Given the description of an element on the screen output the (x, y) to click on. 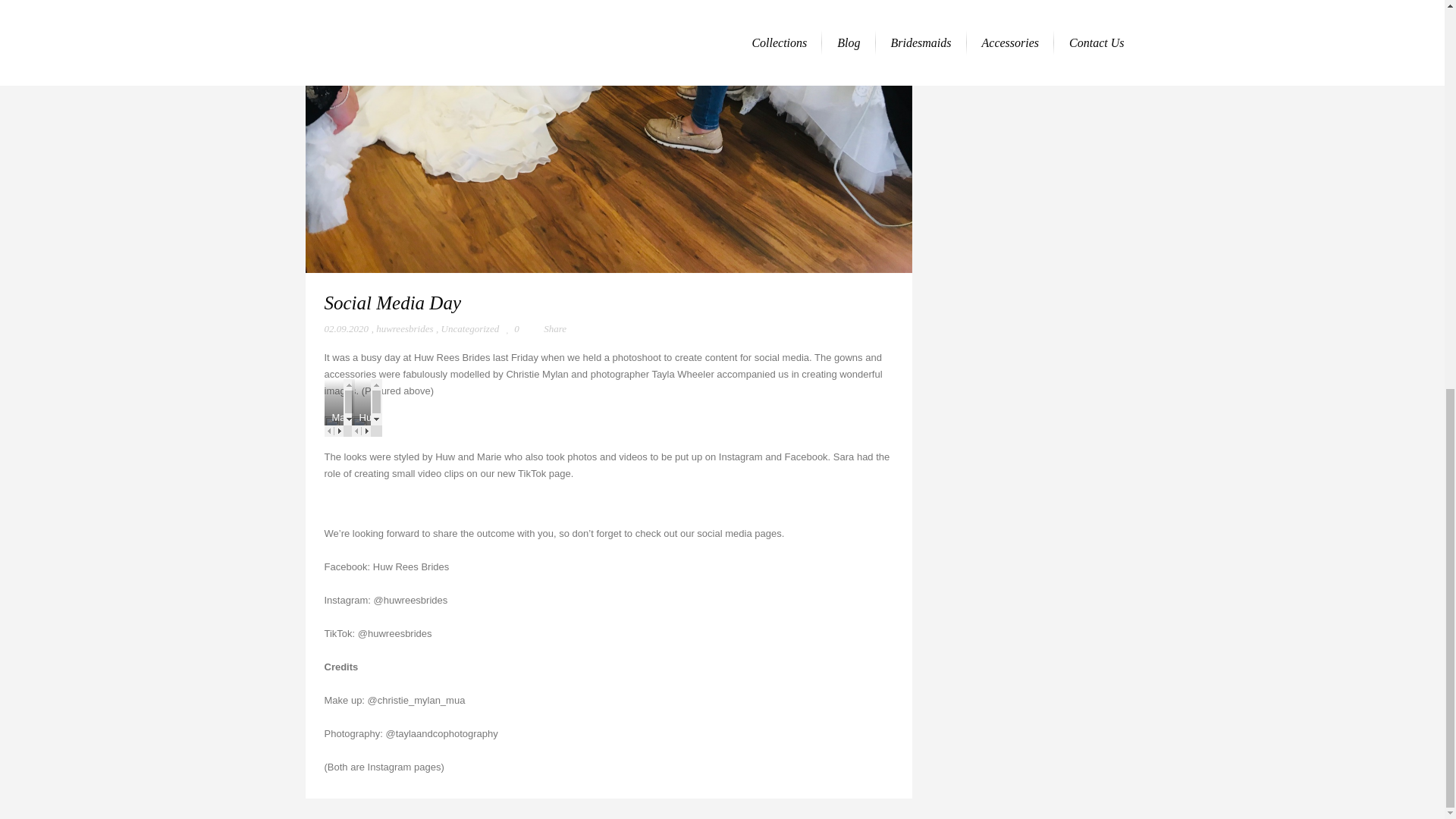
huwreesbrides (403, 329)
Share (545, 328)
New Collection from True Bridesmaids (1032, 8)
